Given the description of an element on the screen output the (x, y) to click on. 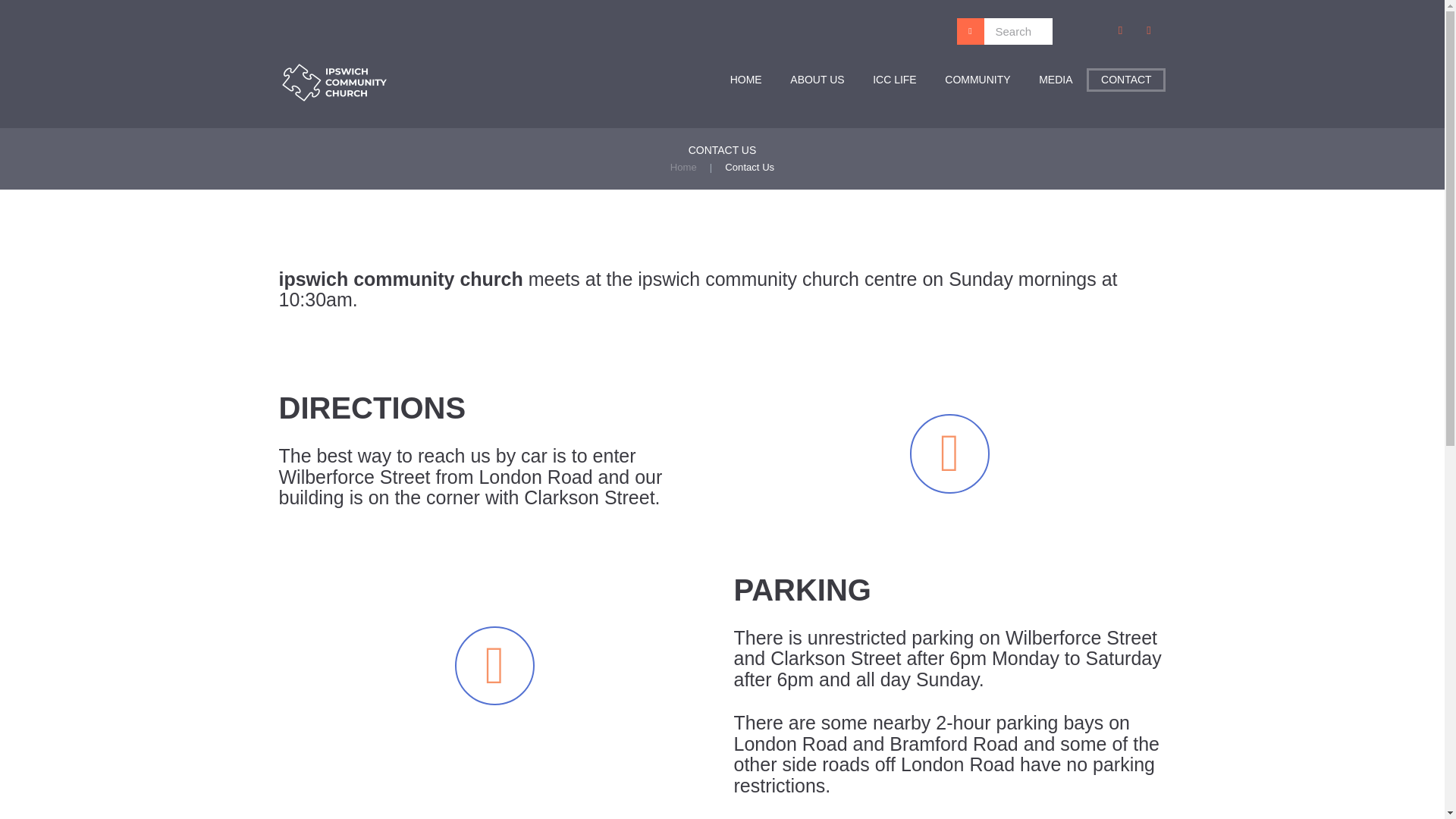
Home (683, 167)
CONTACT (1126, 79)
COMMUNITY (978, 79)
ABOUT US (817, 79)
HOME (746, 79)
MEDIA (1055, 79)
ICC LIFE (894, 79)
Start search (970, 31)
